Given the description of an element on the screen output the (x, y) to click on. 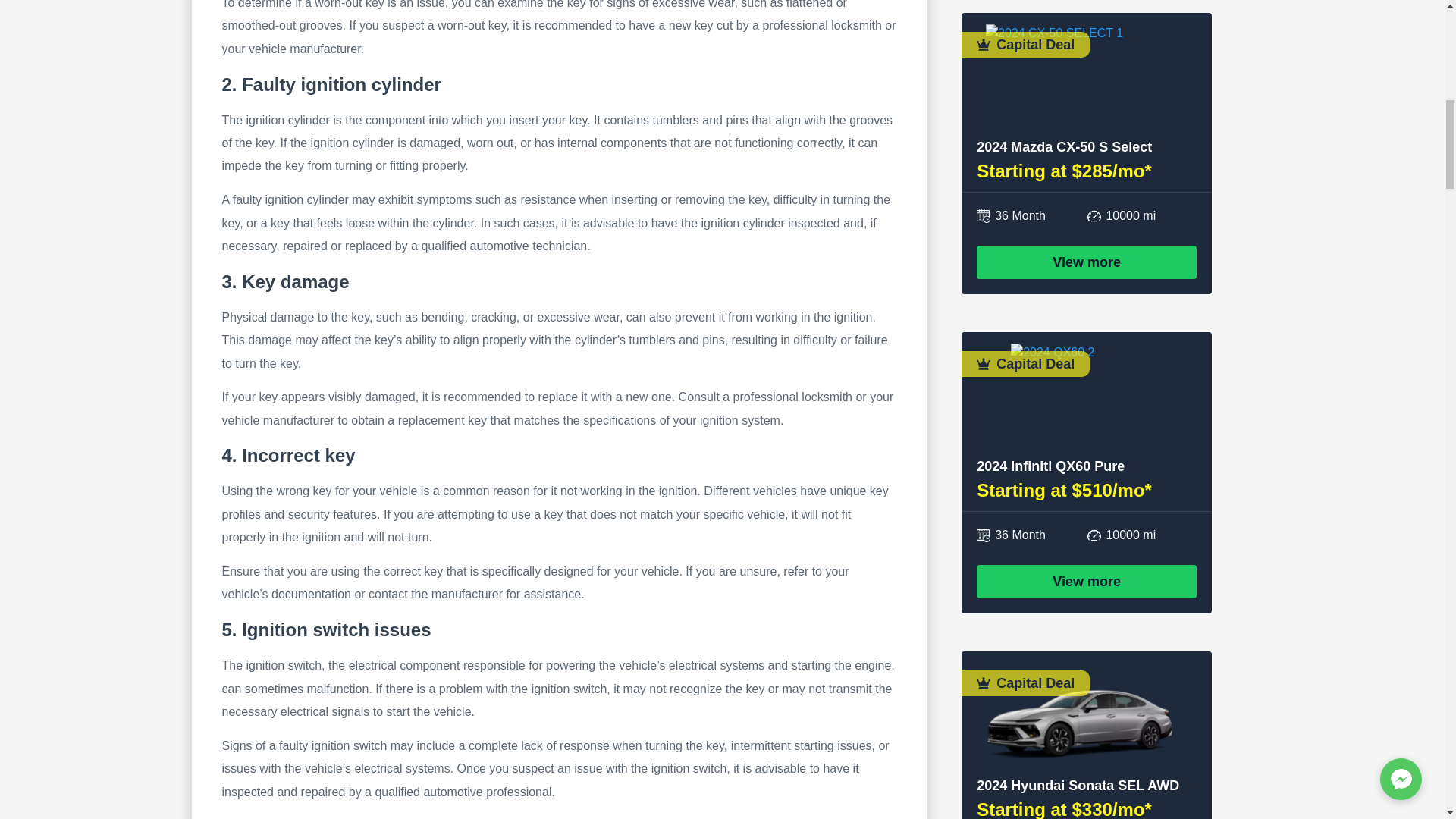
View more (1086, 262)
2024 Mazda CX-50 S Select (1063, 147)
